Given the description of an element on the screen output the (x, y) to click on. 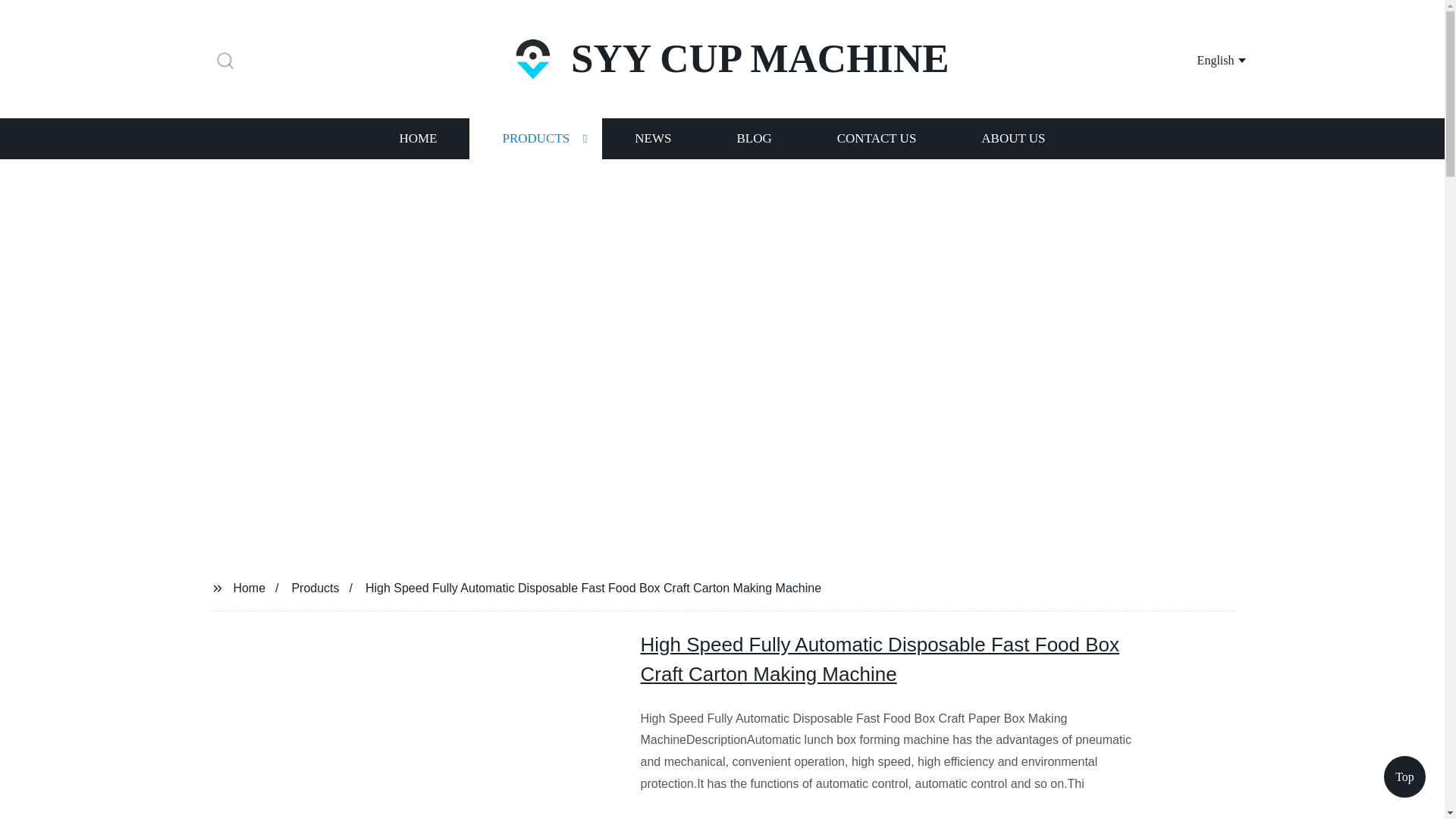
CONTACT US (877, 137)
NEWS (652, 137)
English (1203, 59)
BLOG (753, 137)
HOME (417, 137)
ABOUT US (1013, 137)
Products (315, 586)
English (1203, 59)
Home (248, 586)
Top (1404, 779)
